Given the description of an element on the screen output the (x, y) to click on. 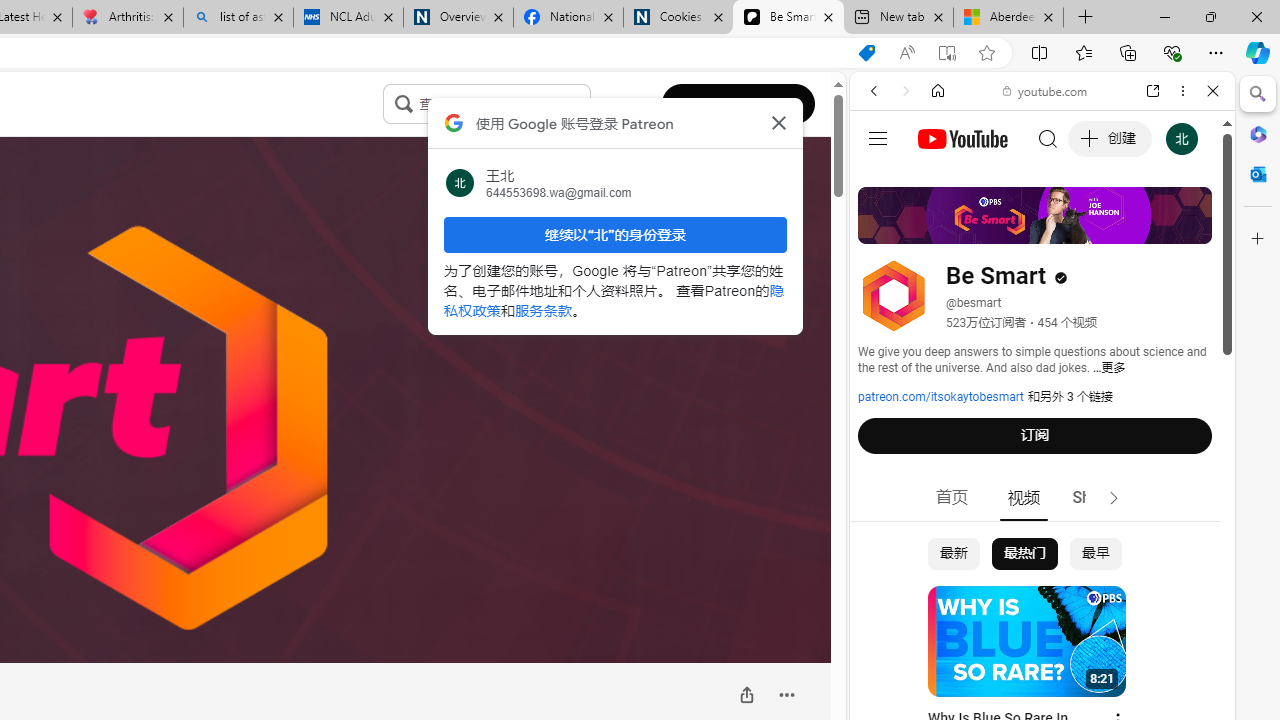
Music (1042, 543)
Class: b_serphb (1190, 229)
